Given the description of an element on the screen output the (x, y) to click on. 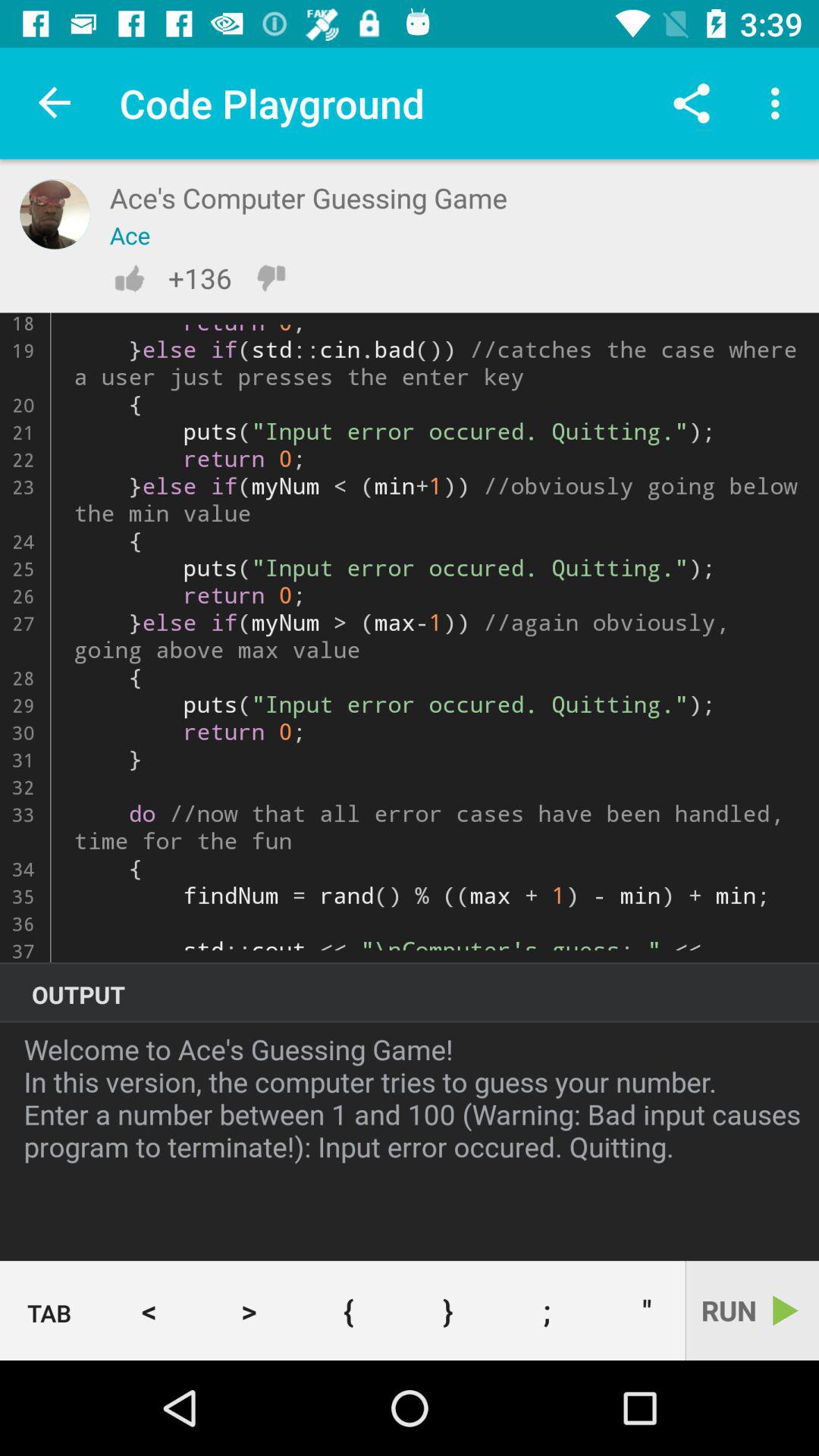
dislike the article (270, 277)
